Given the description of an element on the screen output the (x, y) to click on. 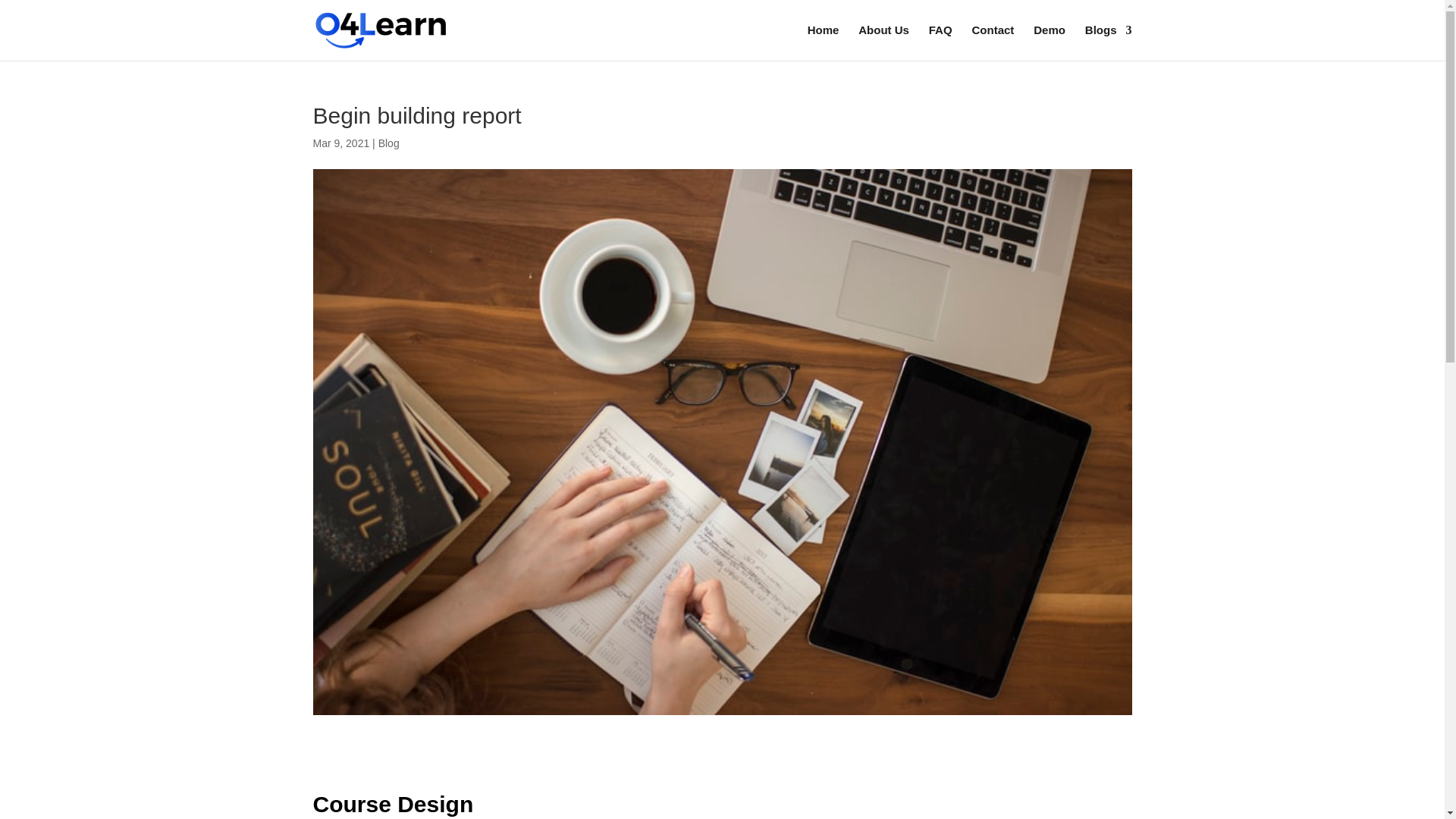
Blog (388, 143)
About Us (883, 42)
Contact (993, 42)
Blogs (1108, 42)
Home (824, 42)
Demo (1049, 42)
